Given the description of an element on the screen output the (x, y) to click on. 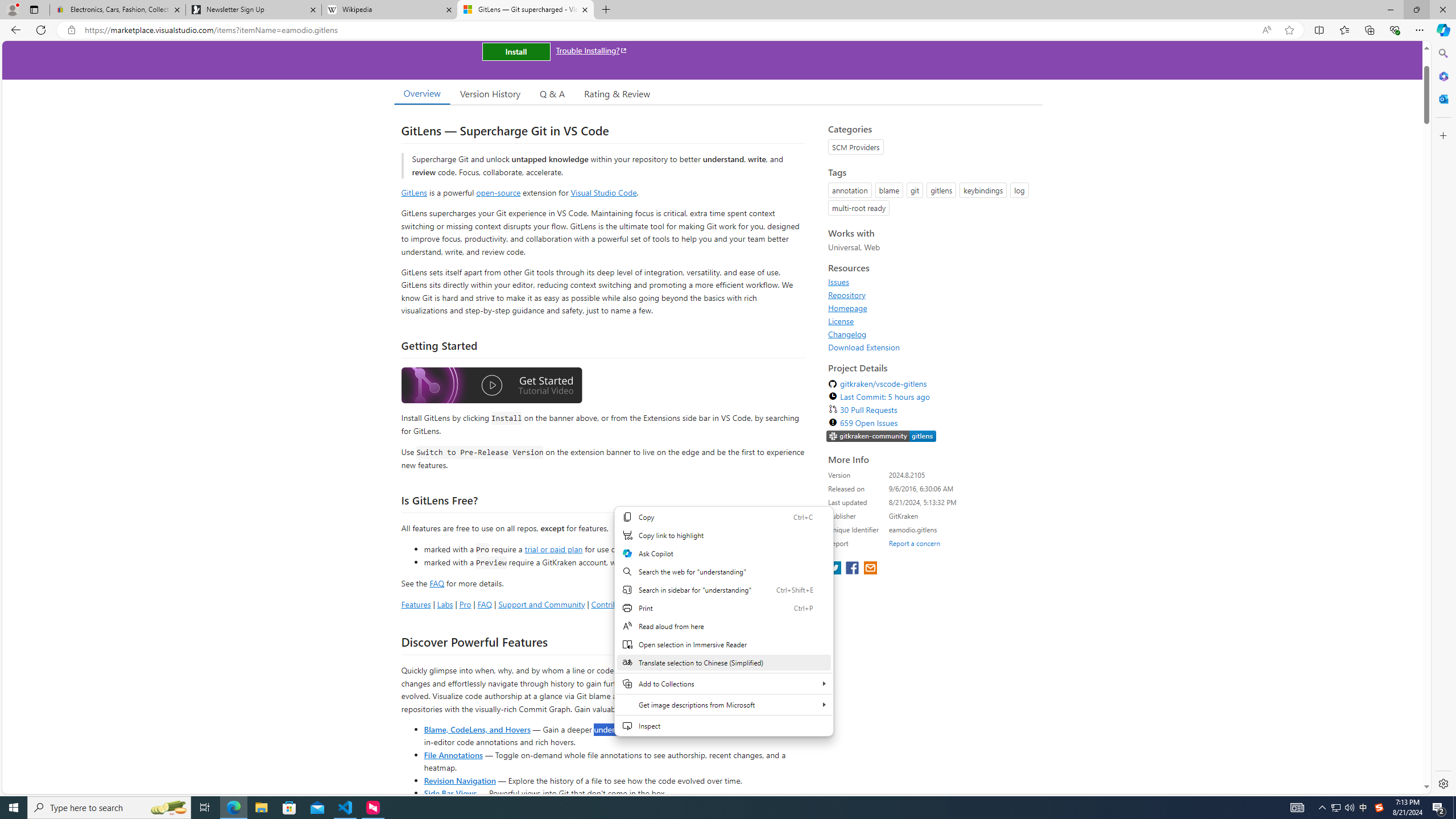
FAQ (484, 603)
Q & A (552, 92)
Download Extension (863, 346)
File Annotations (453, 754)
Visual Studio Code (603, 192)
Changelog (931, 333)
Get image descriptions from Microsoft (723, 704)
Web context (723, 621)
